Given the description of an element on the screen output the (x, y) to click on. 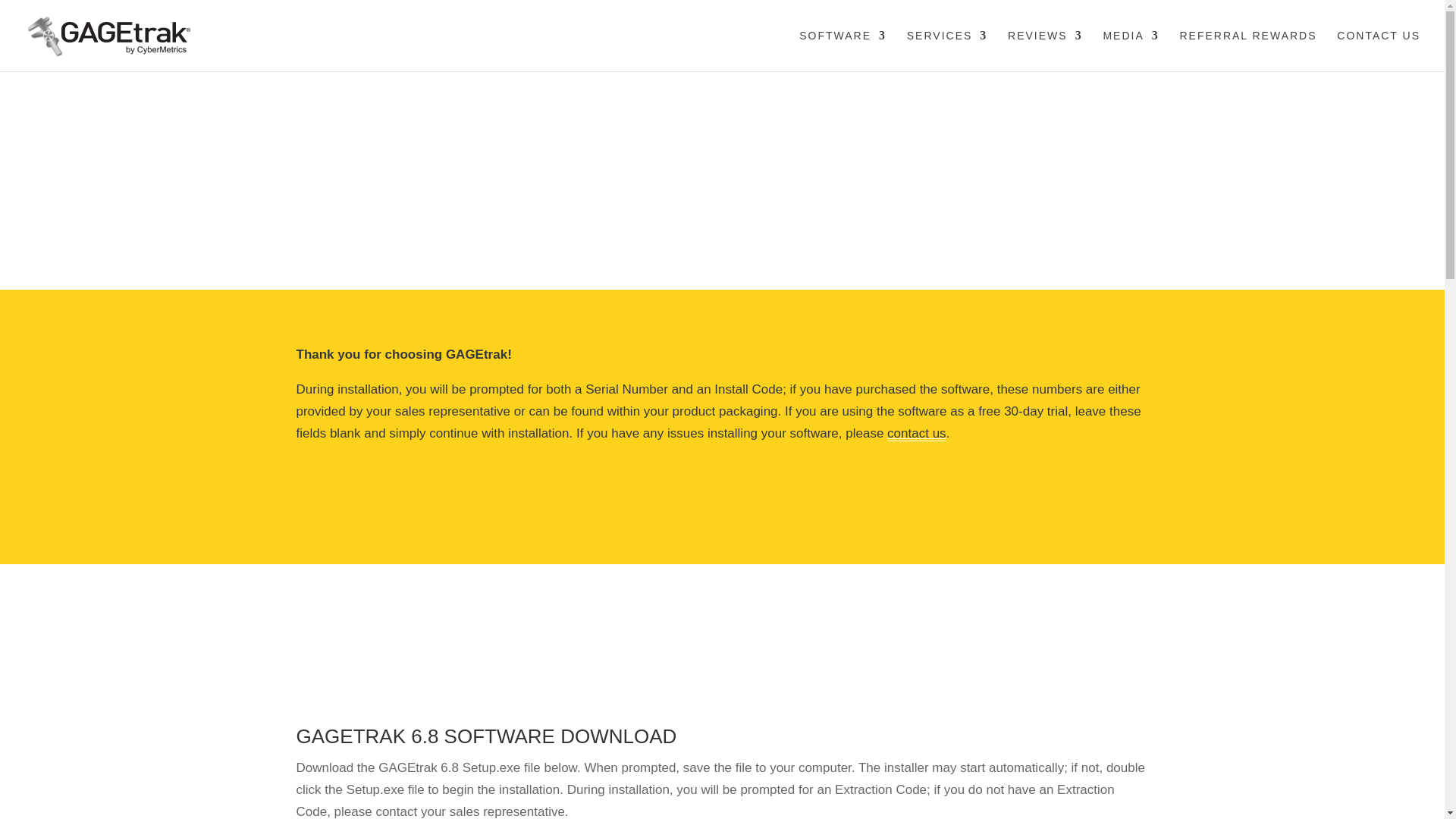
contact us (916, 432)
SOFTWARE (842, 50)
SERVICES (947, 50)
REVIEWS (1045, 50)
CONTACT US (1378, 50)
REFERRAL REWARDS (1247, 50)
MEDIA (1130, 50)
